Given the description of an element on the screen output the (x, y) to click on. 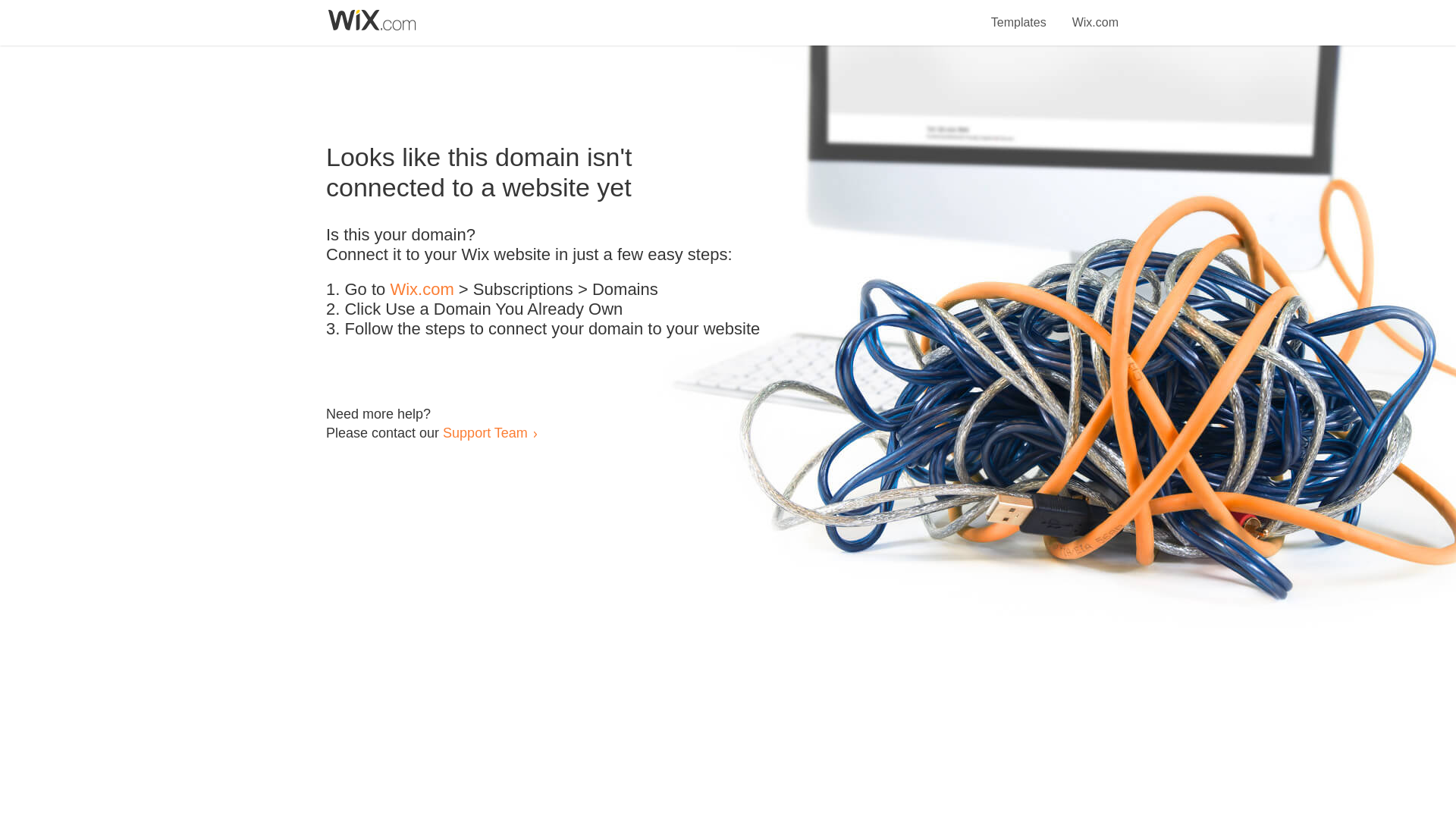
Templates (1018, 14)
Wix.com (421, 289)
Wix.com (1095, 14)
Support Team (484, 432)
